Given the description of an element on the screen output the (x, y) to click on. 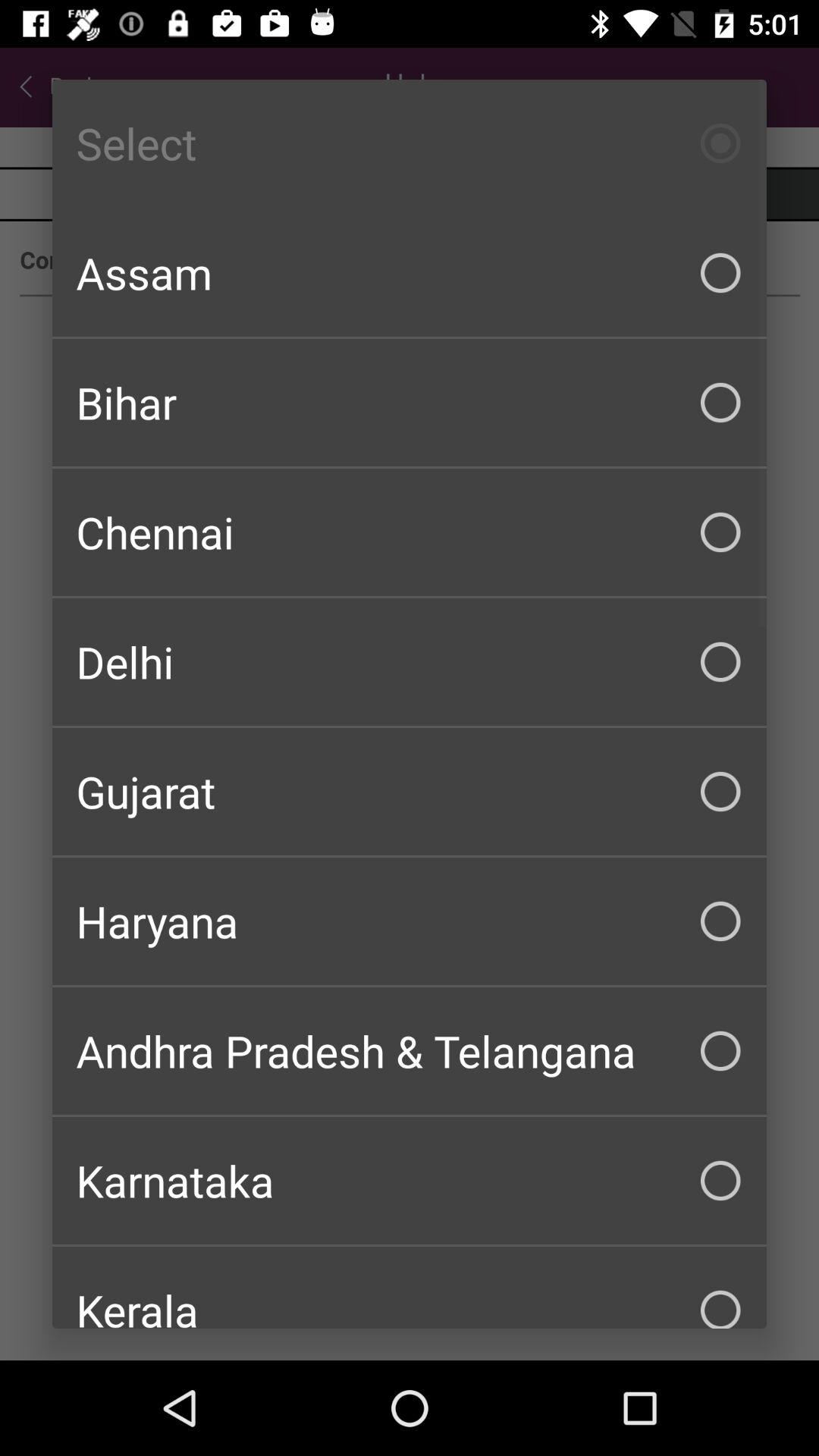
turn off delhi item (409, 661)
